Given the description of an element on the screen output the (x, y) to click on. 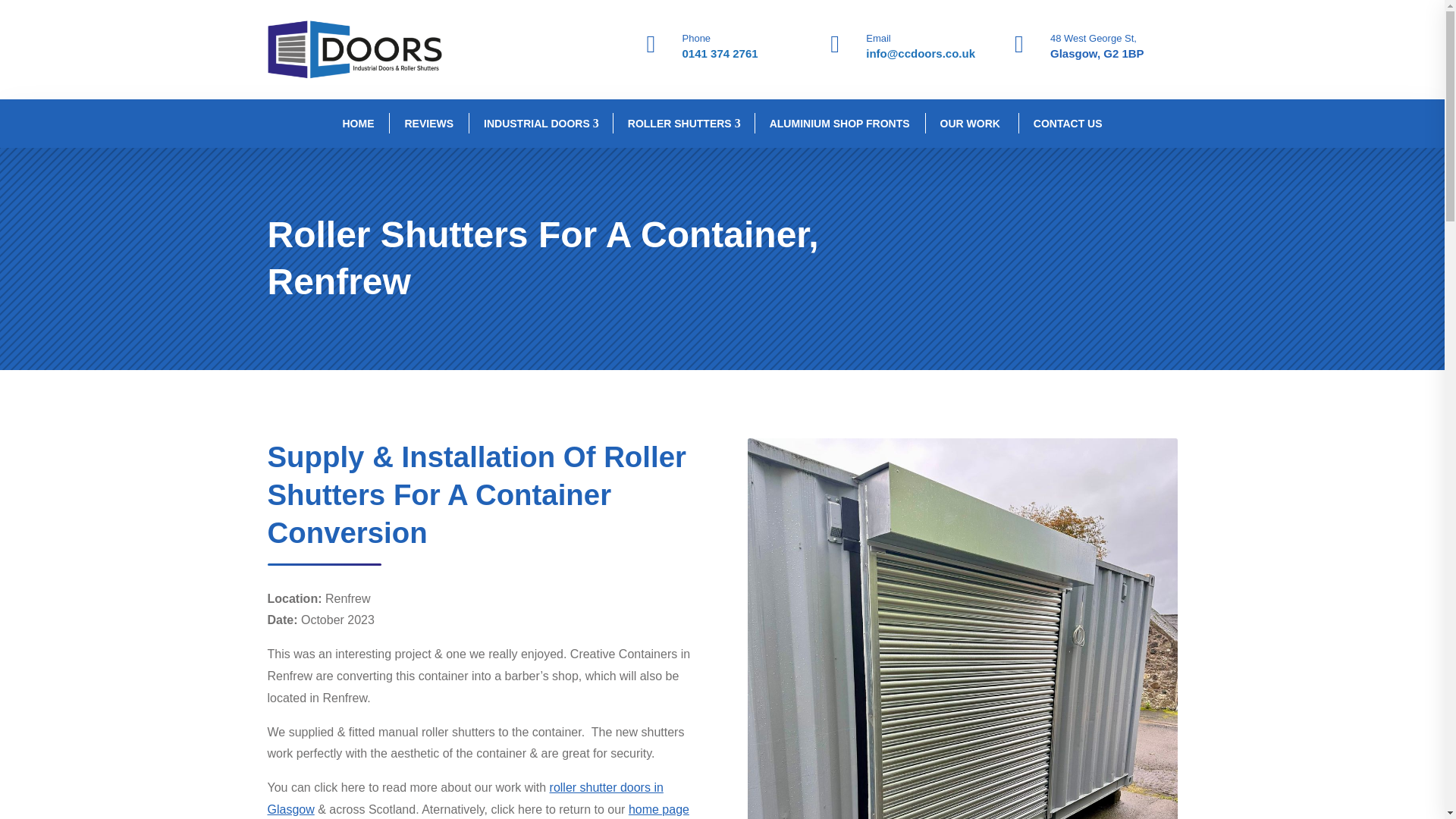
roller shutter doors Glasgow (464, 798)
ALUMINIUM SHOP FRONTS (839, 123)
call CC Doors Ltd (720, 52)
0141 374 2761 (720, 52)
CONTACT US (1067, 123)
OUR WORK  (970, 123)
ROLLER SHUTTERS (683, 123)
HOME (357, 123)
REVIEWS (428, 123)
INDUSTRIAL DOORS (540, 123)
